Given the description of an element on the screen output the (x, y) to click on. 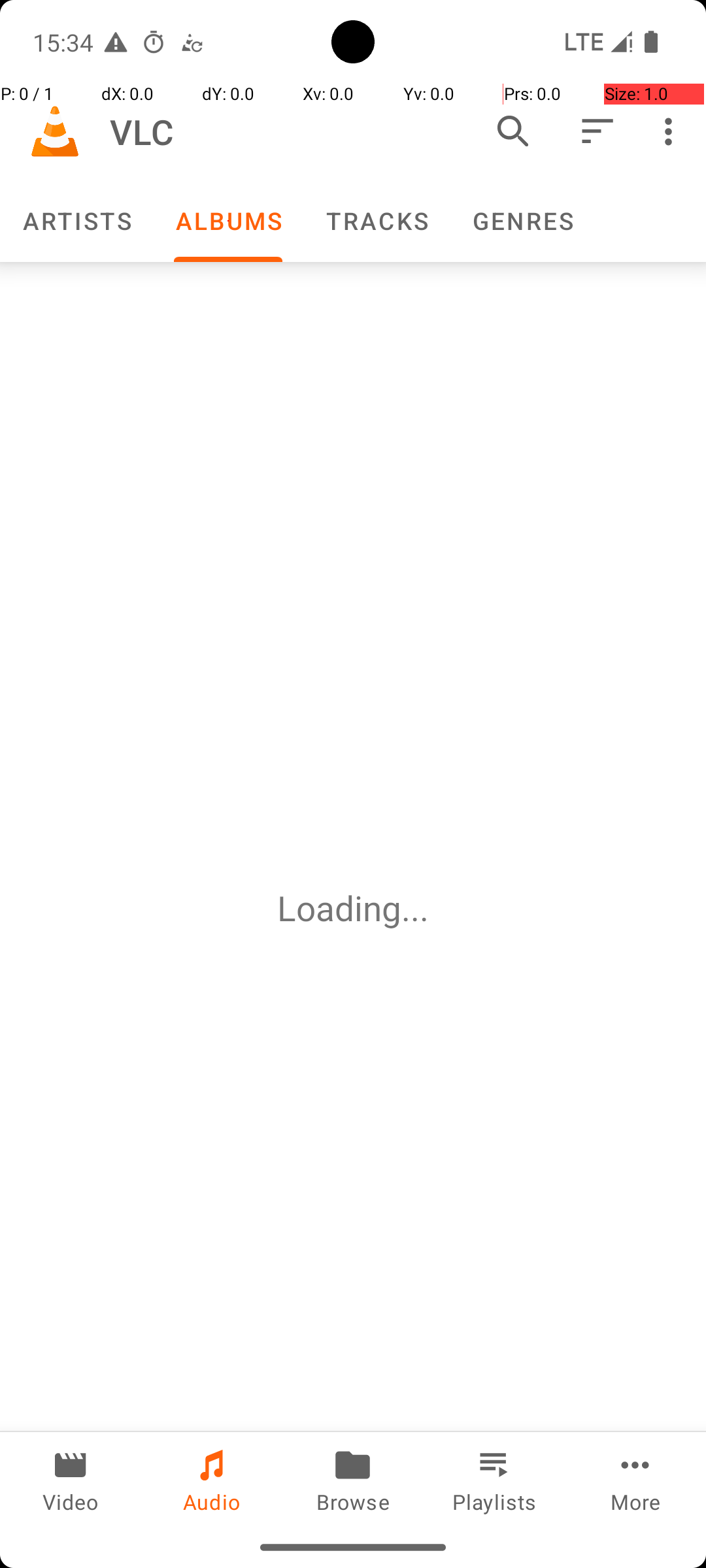
... Element type: android.widget.TextView (414, 907)
VLC notification: Scanning for media files Element type: android.widget.ImageView (191, 41)
